Given the description of an element on the screen output the (x, y) to click on. 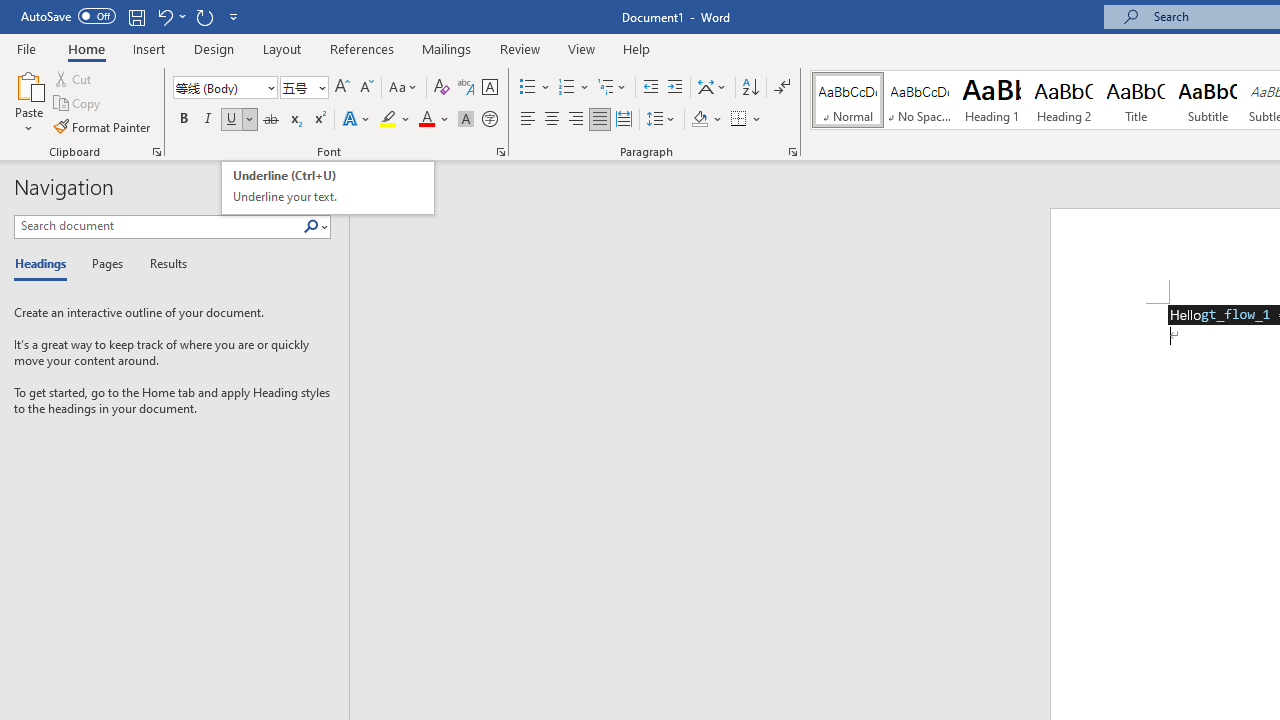
Repeat Underline Style (204, 15)
Undo Underline Style (170, 15)
